Given the description of an element on the screen output the (x, y) to click on. 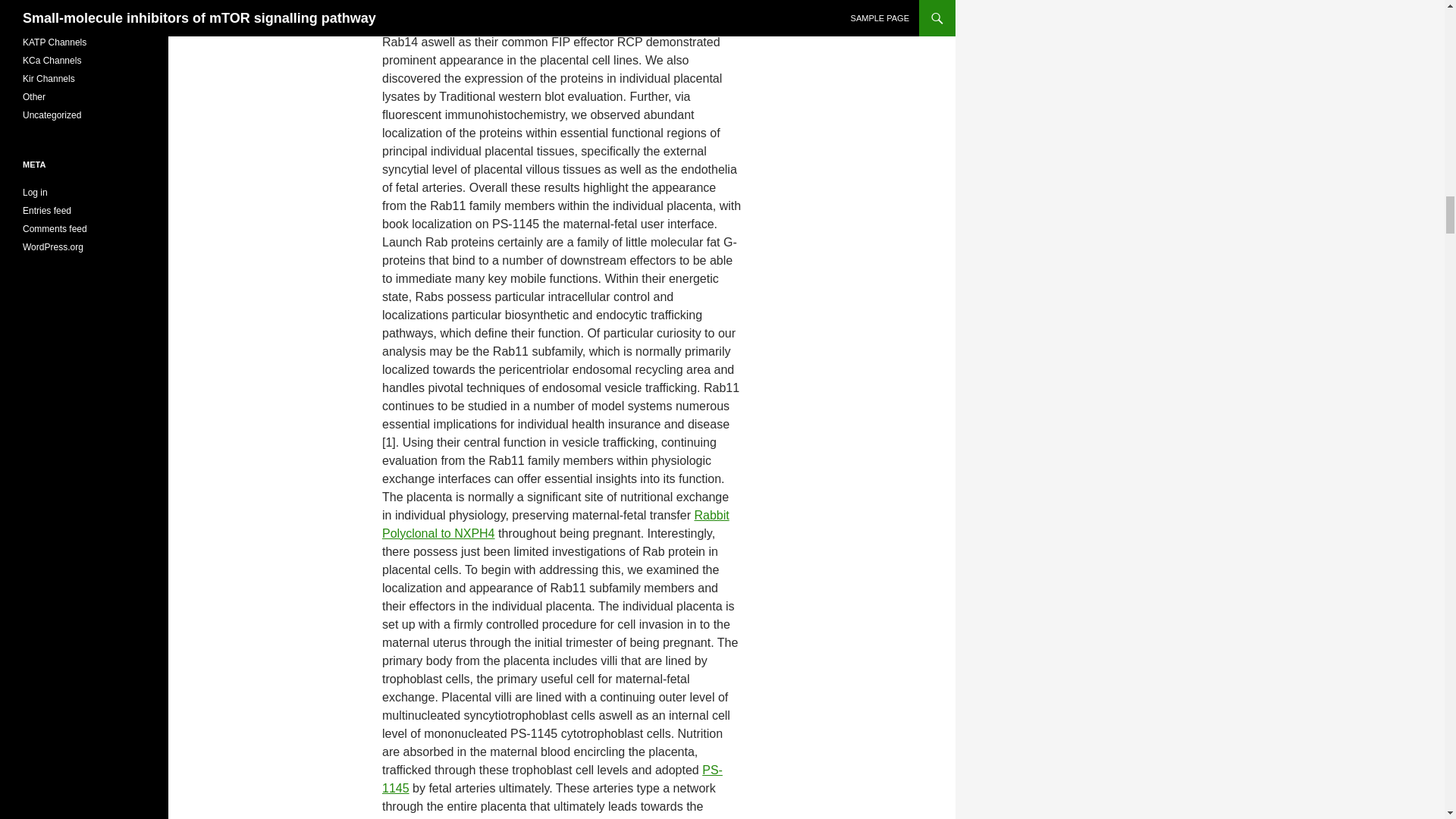
Rabbit Polyclonal to NXPH4 (555, 523)
PS-1145 (551, 778)
